Given the description of an element on the screen output the (x, y) to click on. 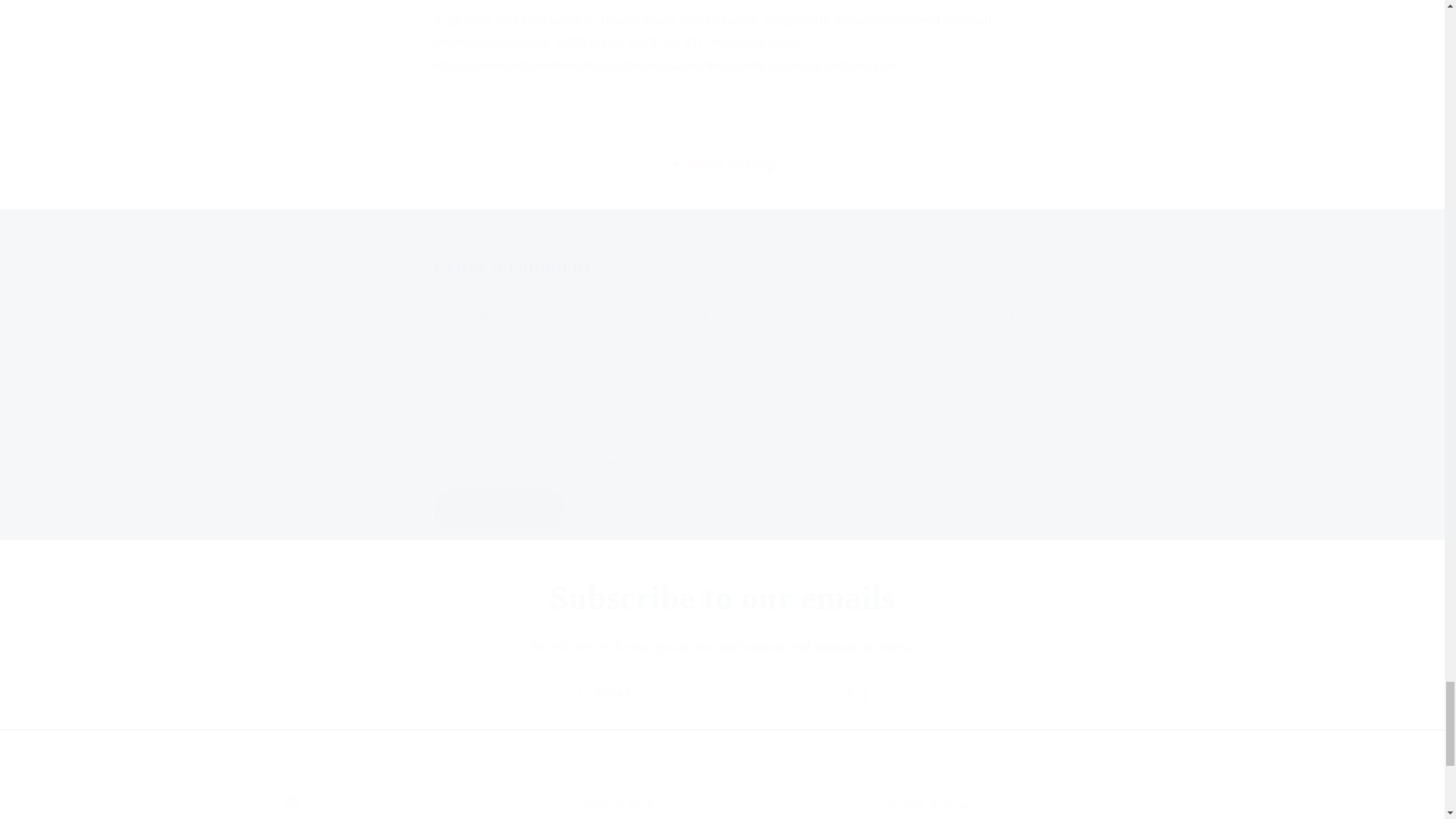
Email (722, 692)
Post comment (499, 508)
Subscribe to our emails (722, 598)
